Given the description of an element on the screen output the (x, y) to click on. 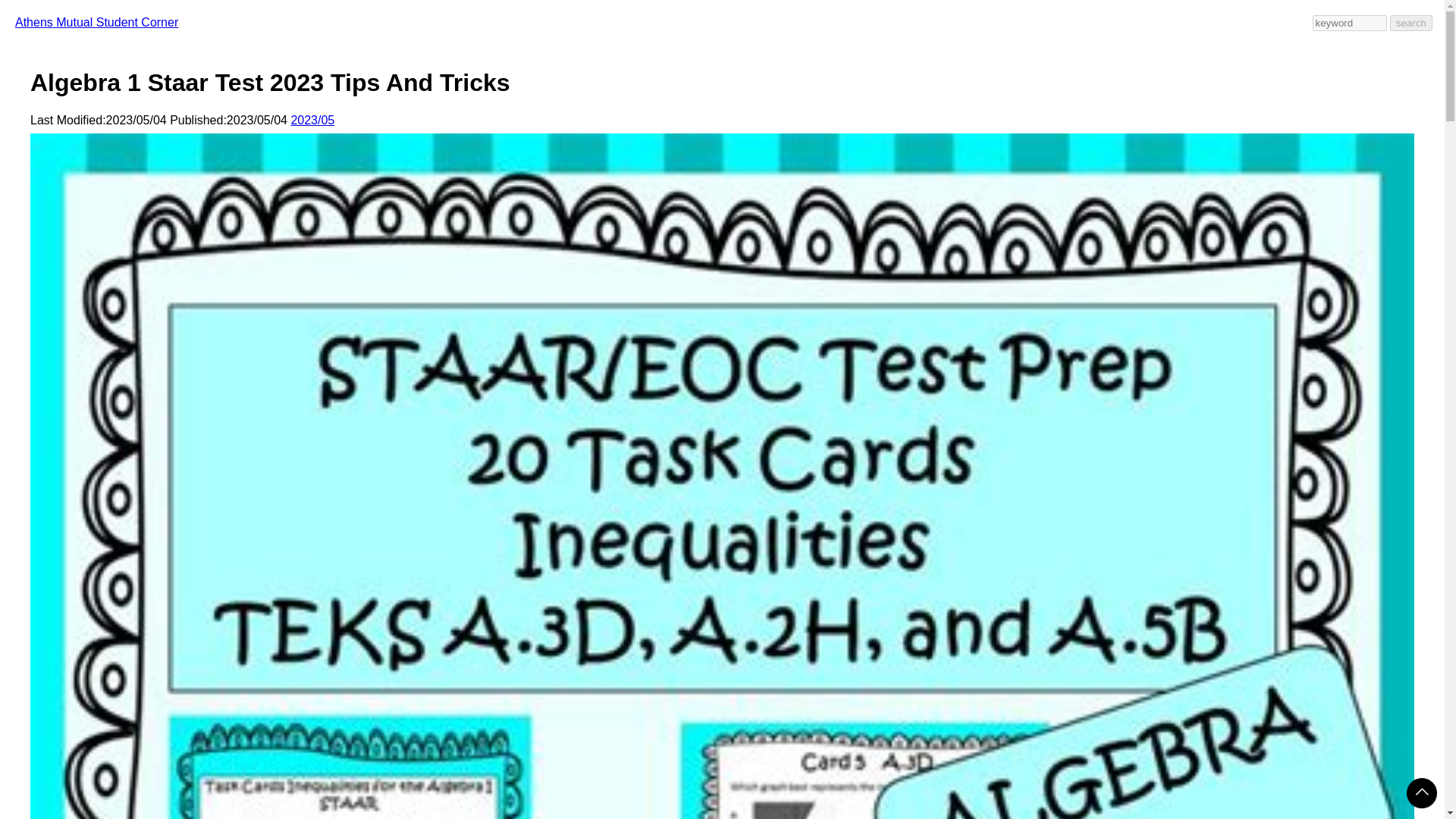
search (1411, 23)
Athens Mutual Student Corner (95, 21)
